Given the description of an element on the screen output the (x, y) to click on. 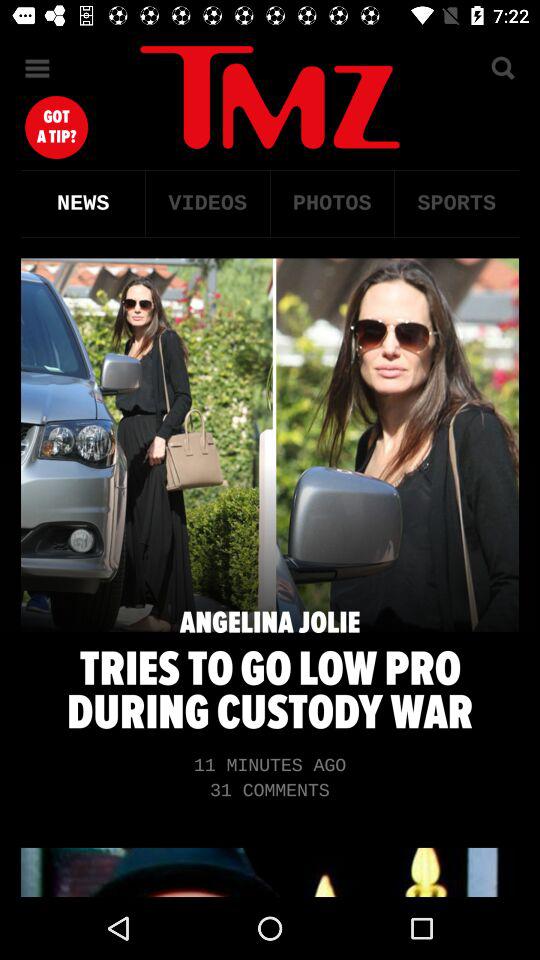
open search (502, 68)
